Given the description of an element on the screen output the (x, y) to click on. 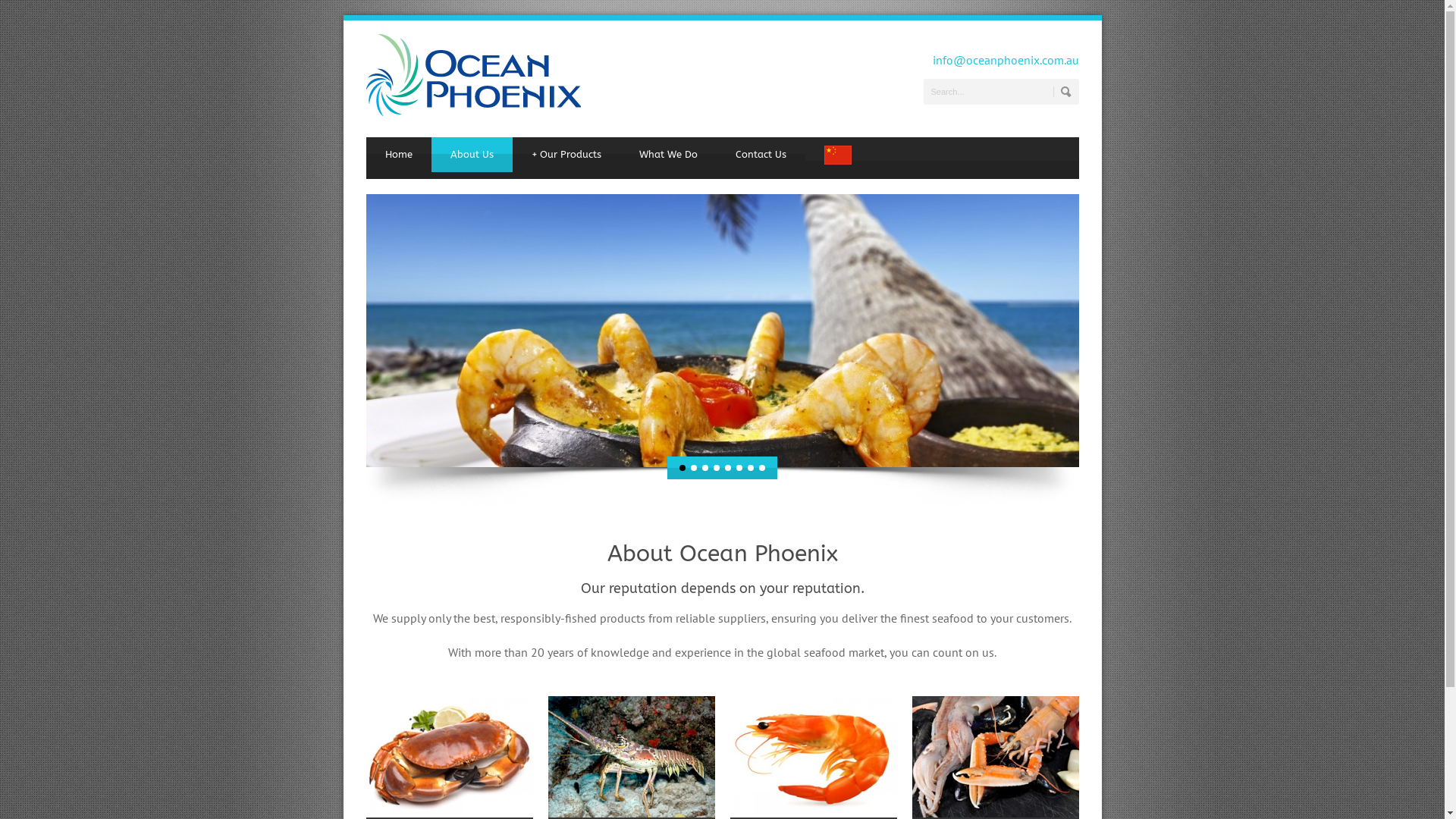
8 Element type: text (762, 467)
6 Element type: text (739, 467)
7 Element type: text (750, 467)
info@oceanphoenix.com.au Element type: text (1005, 59)
5 Element type: text (727, 467)
1 Element type: text (682, 467)
3 Element type: text (705, 467)
What We Do Element type: text (668, 154)
4 Element type: text (716, 467)
2 Element type: text (693, 467)
Contact Us Element type: text (759, 154)
Home Element type: text (397, 154)
Our Products
+ Element type: text (566, 154)
About Us Element type: text (470, 154)
